Given the description of an element on the screen output the (x, y) to click on. 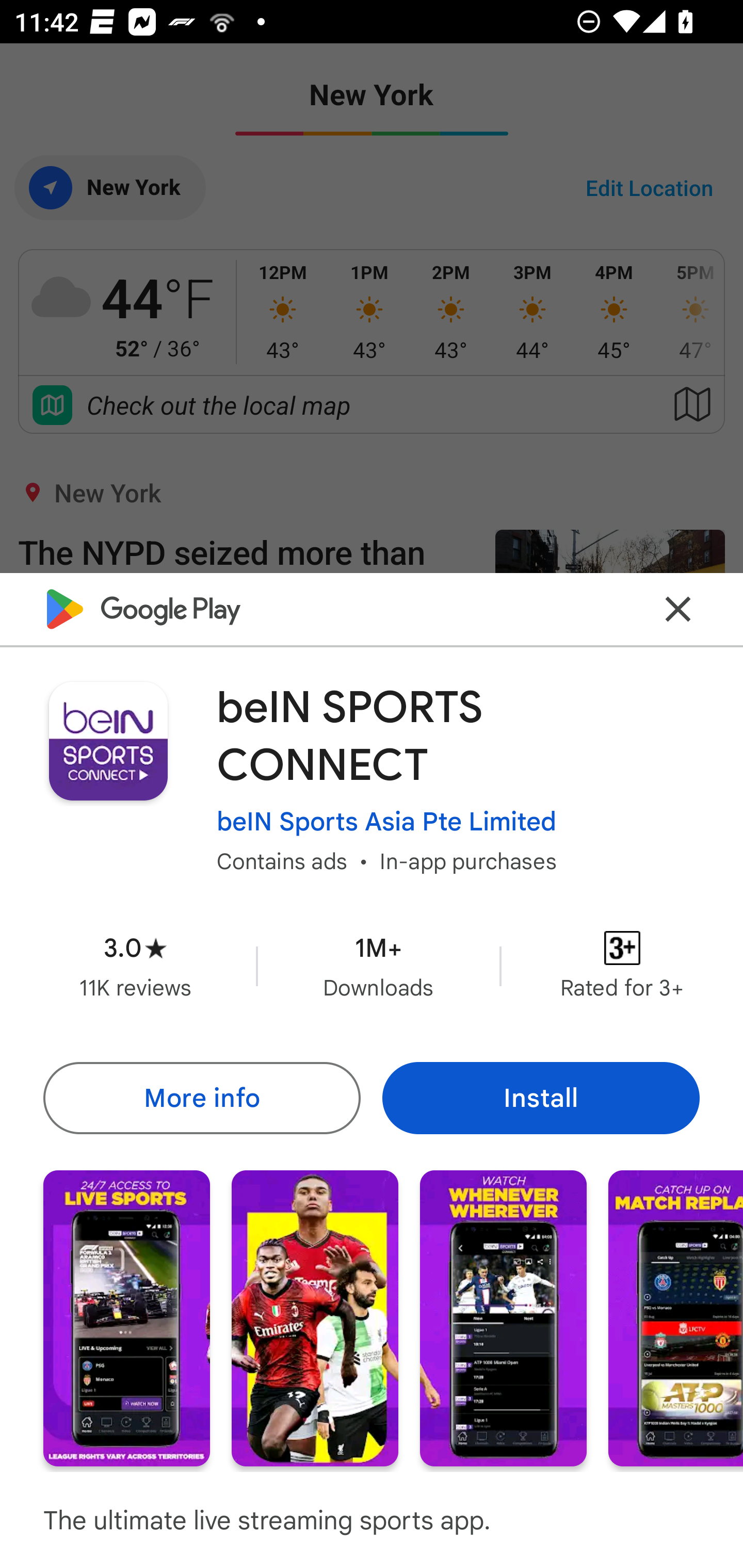
Close (677, 609)
Image of app or game icon for beIN SPORTS CONNECT (108, 740)
beIN Sports Asia Pte Limited (386, 822)
More info (201, 1097)
Install (540, 1097)
Screenshot "1" of "6" (126, 1317)
Screenshot "2" of "6" (314, 1317)
Screenshot "3" of "6" (502, 1317)
Screenshot "4" of "6" (675, 1317)
